Given the description of an element on the screen output the (x, y) to click on. 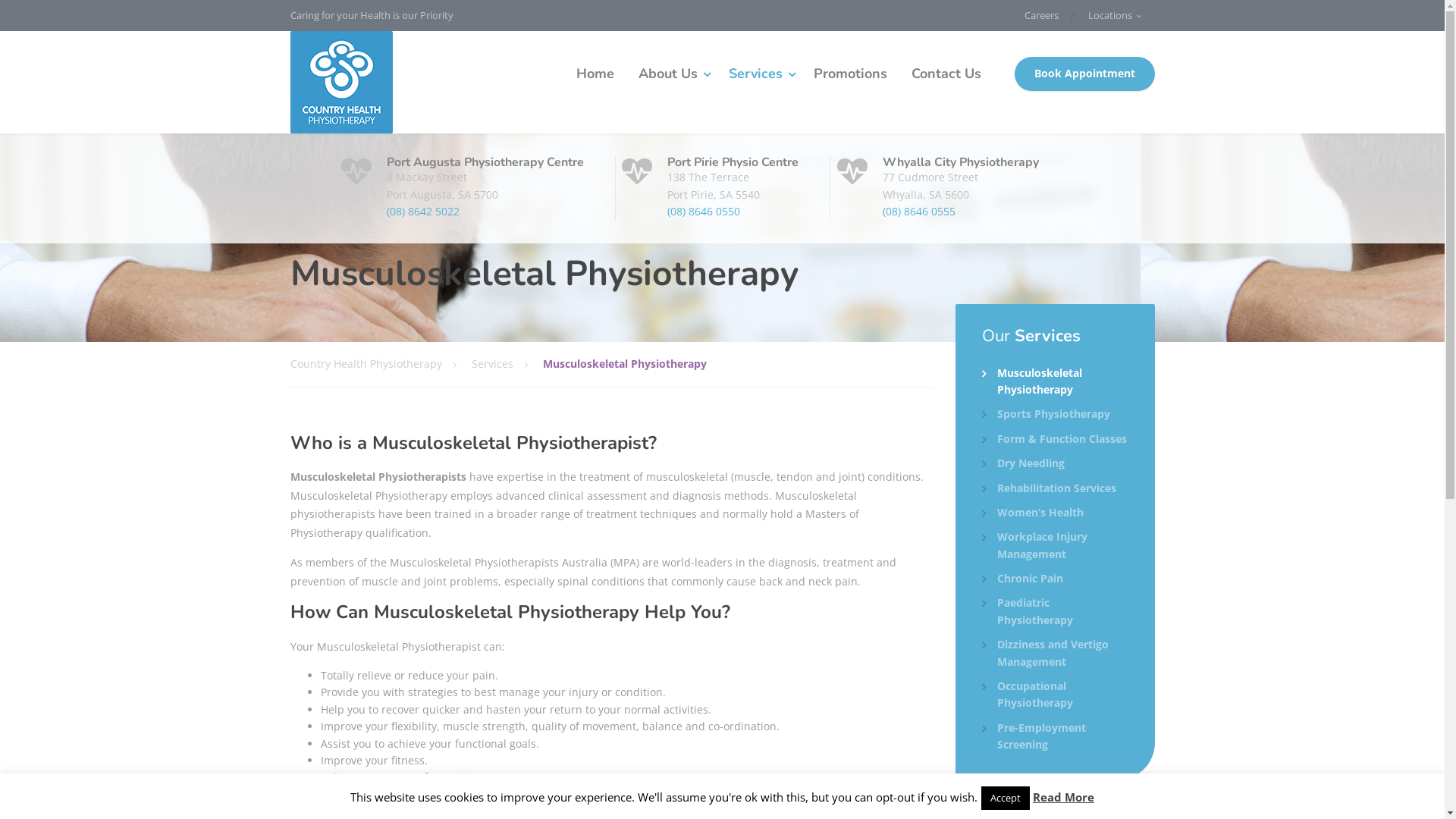
Country Health Physiotherapy Element type: text (379, 363)
Dizziness and Vertigo Management Element type: text (1055, 653)
Paediatric Physiotherapy Element type: text (1055, 611)
Book Appointment Element type: text (1084, 73)
(08) 8646 0555 Element type: text (918, 210)
Promotions Element type: text (849, 74)
Sports Physiotherapy Element type: text (1046, 413)
Services Element type: text (506, 363)
Services Element type: text (758, 74)
(08) 8646 0550 Element type: text (703, 210)
Musculoskeletal Physiotherapy Element type: text (1055, 381)
About Us Element type: text (671, 74)
Home Element type: text (594, 74)
Dry Needling Element type: text (1023, 463)
Occupational Physiotherapy Element type: text (1055, 694)
(08) 8642 5022 Element type: text (422, 210)
Accept Element type: text (1005, 797)
Read More Element type: text (1063, 796)
Workplace Injury Management Element type: text (1055, 545)
Country Health Physiotherapy Element type: hover (340, 82)
Pre-Employment Screening Element type: text (1055, 736)
Form & Function Classes Element type: text (1054, 438)
Rehabilitation Services Element type: text (1049, 488)
Chronic Pain Element type: text (1022, 578)
Locations Element type: text (1114, 15)
Careers Element type: text (1042, 15)
Contact Us Element type: text (945, 74)
